Given the description of an element on the screen output the (x, y) to click on. 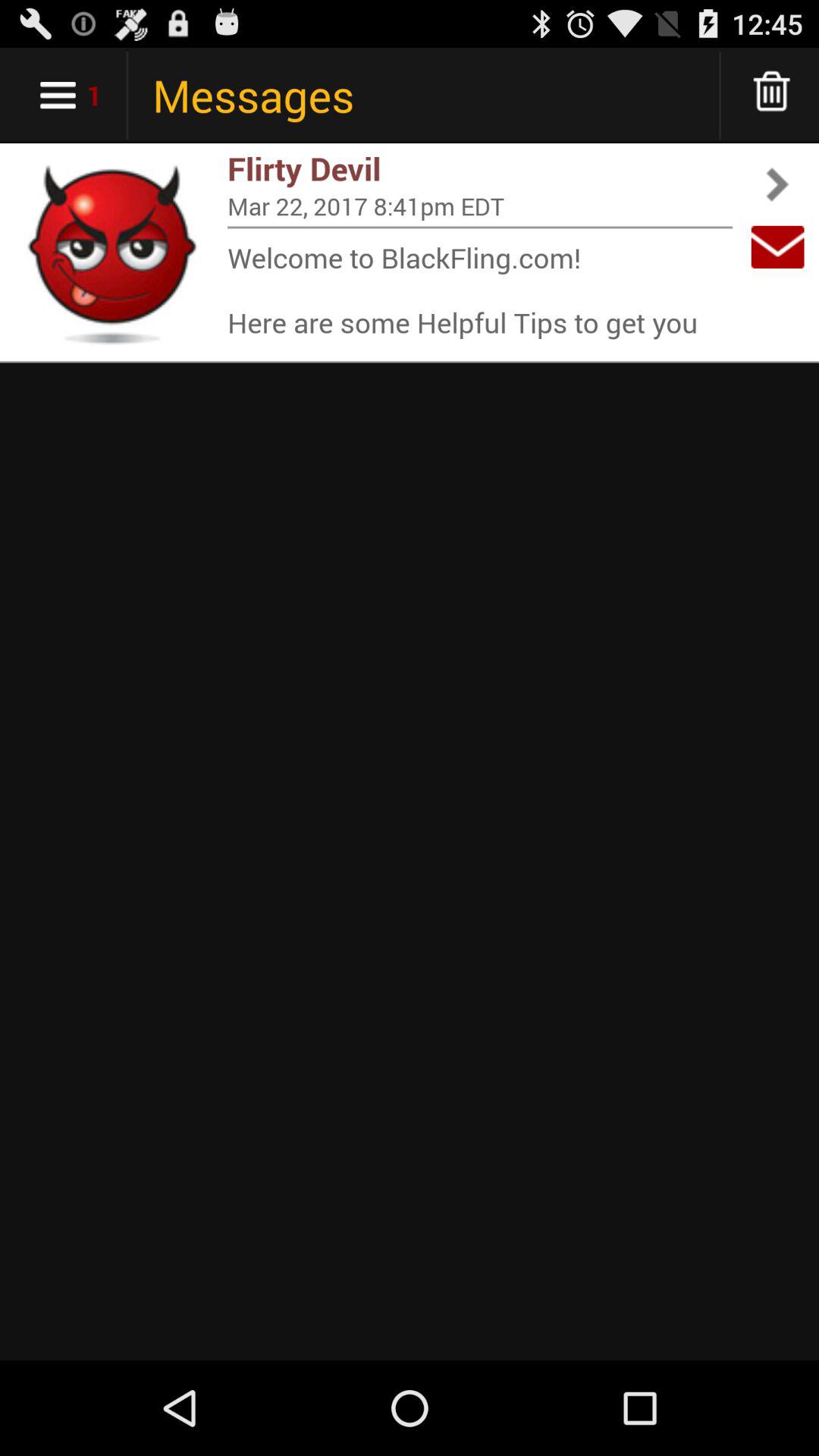
click item to the right of mar 22 2017 item (777, 246)
